Given the description of an element on the screen output the (x, y) to click on. 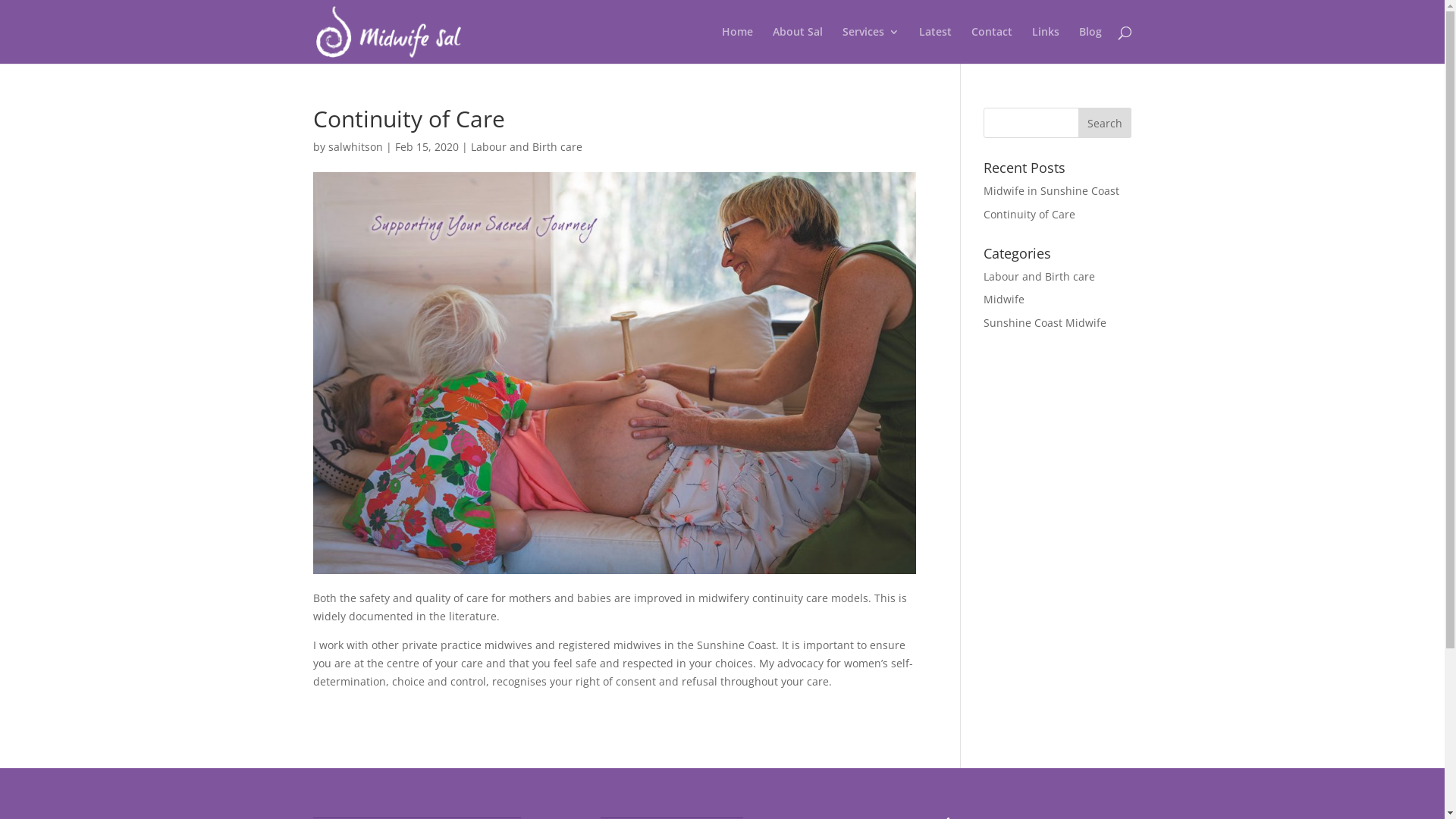
Search Element type: text (1104, 122)
Midwife Element type: text (1003, 298)
Midwife in Sunshine Coast Element type: text (1051, 190)
Services Element type: text (869, 44)
Contact Element type: text (990, 44)
salwhitson Element type: text (354, 146)
Links Element type: text (1044, 44)
Labour and Birth care Element type: text (1039, 276)
Home Element type: text (737, 44)
Continuity of Care Element type: text (1029, 214)
Labour and Birth care Element type: text (525, 146)
About Sal Element type: text (796, 44)
Latest Element type: text (935, 44)
Sunshine Coast Midwife Element type: text (1044, 322)
Blog Element type: text (1089, 44)
